Given the description of an element on the screen output the (x, y) to click on. 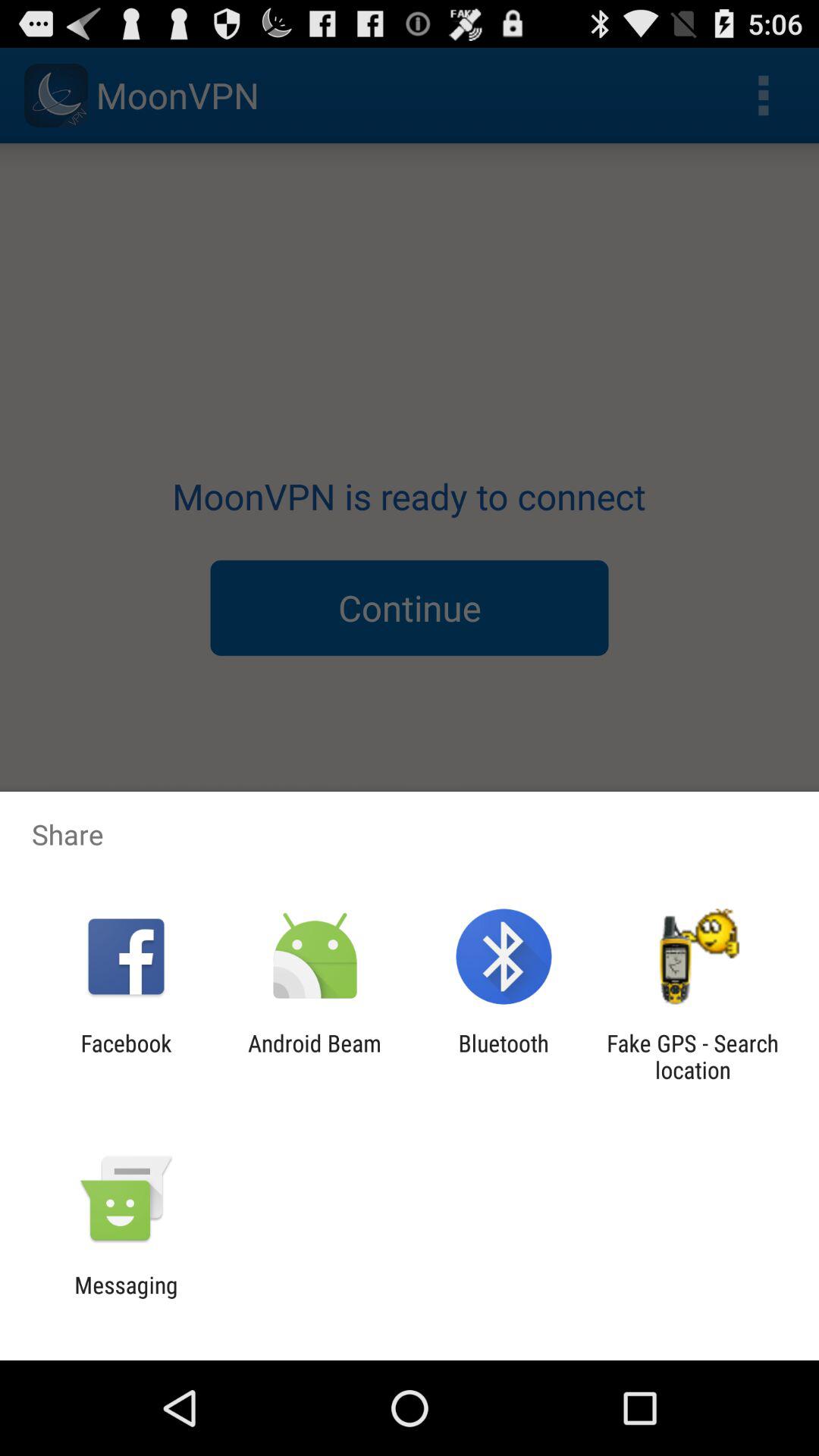
swipe until the bluetooth (503, 1056)
